Given the description of an element on the screen output the (x, y) to click on. 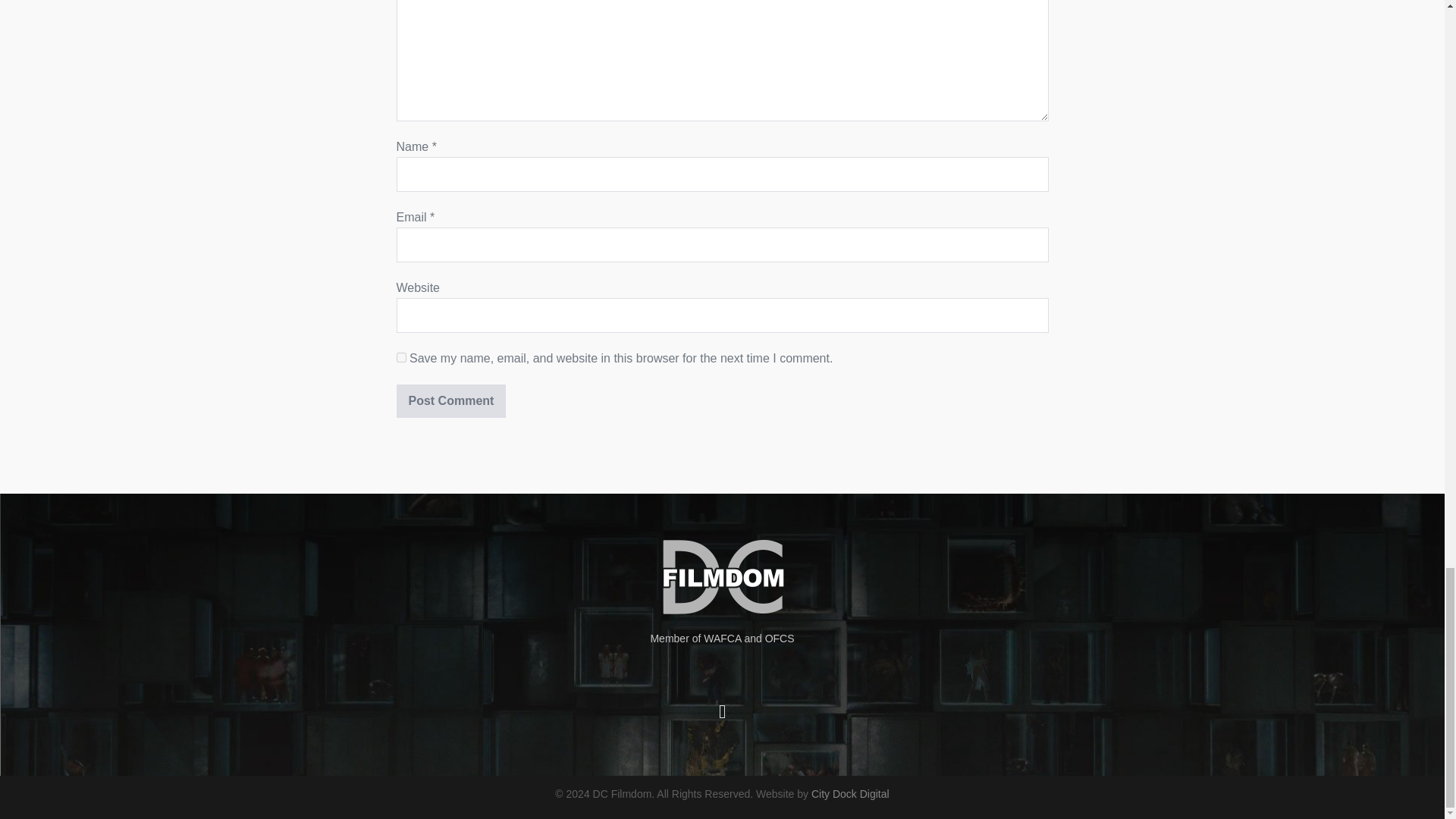
yes (401, 357)
City Dock Digital (849, 793)
Post Comment (450, 400)
Facebook (722, 711)
Post Comment (450, 400)
dcfilmdom-logo-light (721, 576)
